Given the description of an element on the screen output the (x, y) to click on. 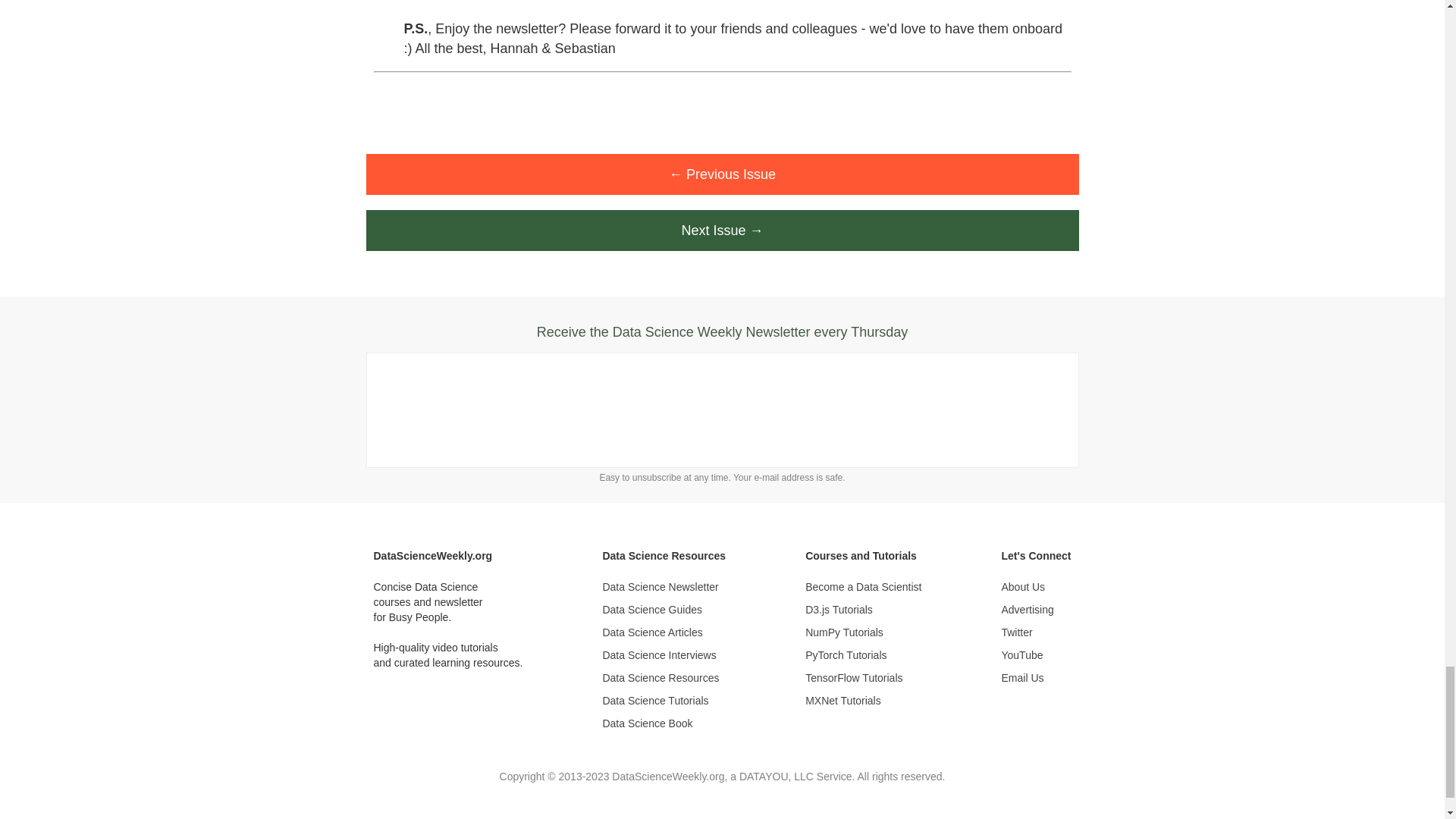
PyTorch Tutorials (863, 654)
Become a Data Scientist (863, 586)
Data Science Newsletter (663, 586)
D3.js Tutorials (863, 609)
Data Science Guides (663, 609)
Data Science Book (663, 723)
Data Science Resources (663, 677)
Data Science Tutorials (663, 700)
Data Science Interviews (663, 654)
Data Science Articles (663, 631)
NumPy Tutorials (863, 631)
